Given the description of an element on the screen output the (x, y) to click on. 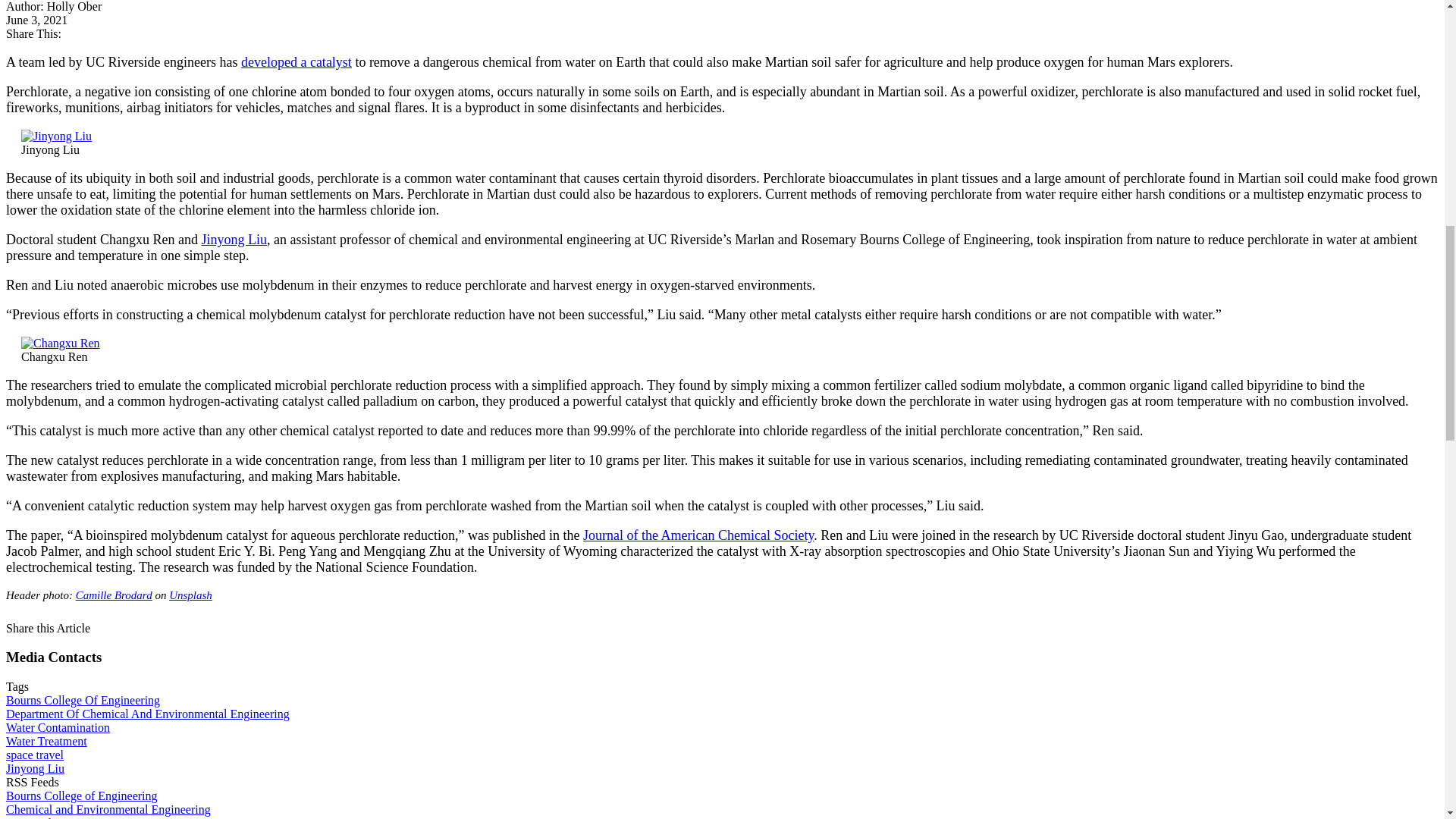
Jinyong Liu (56, 136)
